Given the description of an element on the screen output the (x, y) to click on. 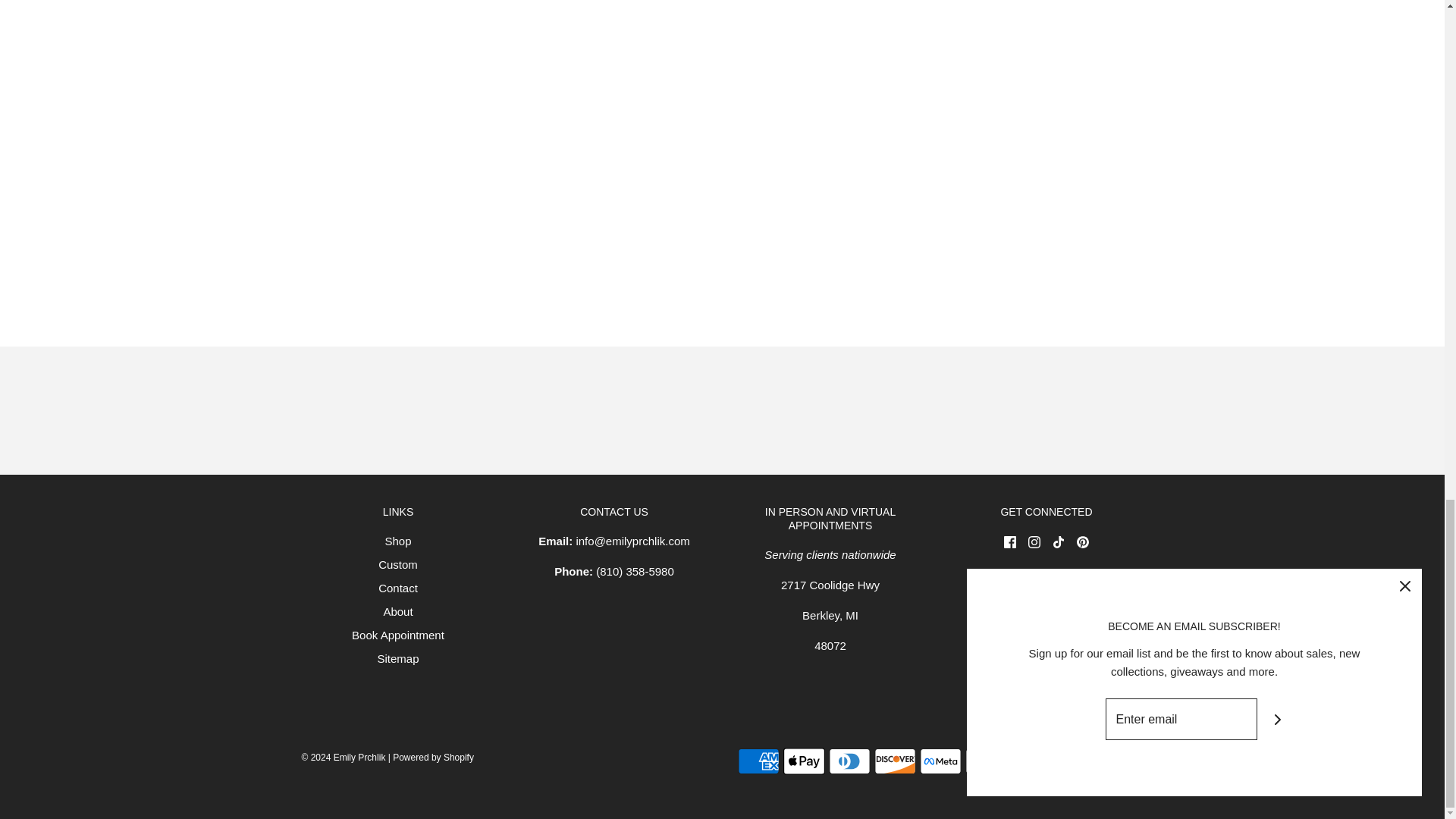
Facebook icon (1010, 541)
Google Pay (984, 761)
Meta Pay (939, 761)
Apple Pay (803, 761)
Discover (894, 761)
Instagram icon (1034, 541)
TikTok icon (1058, 541)
Pinterest icon (1083, 541)
Diners Club (848, 761)
American Express (757, 761)
